Given the description of an element on the screen output the (x, y) to click on. 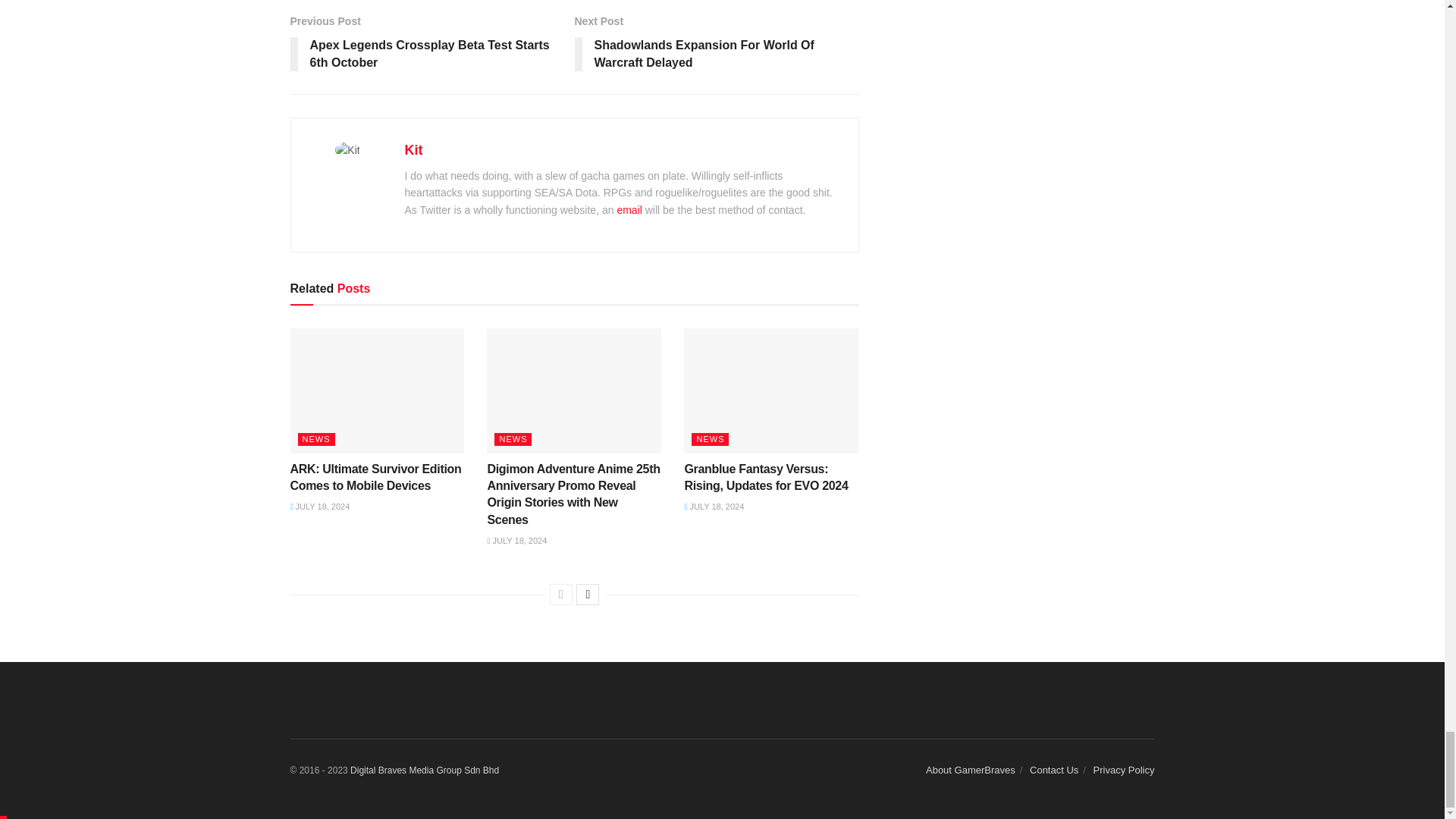
Next (587, 594)
Previous (561, 594)
